Given the description of an element on the screen output the (x, y) to click on. 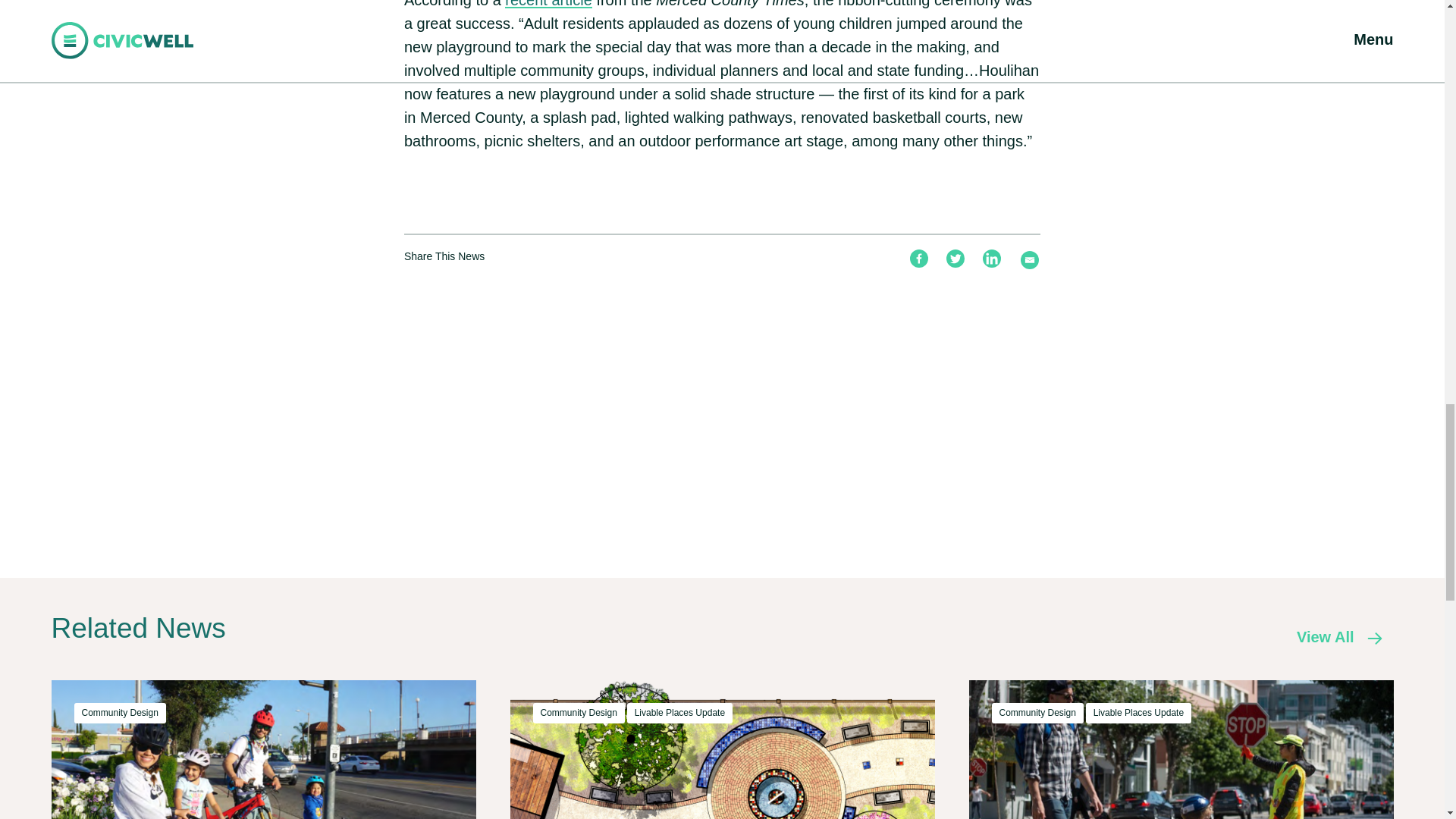
recent article (548, 4)
Facebook (919, 258)
View All (1333, 637)
Linkedin (991, 258)
Email (1029, 259)
Twitter (954, 258)
